Given the description of an element on the screen output the (x, y) to click on. 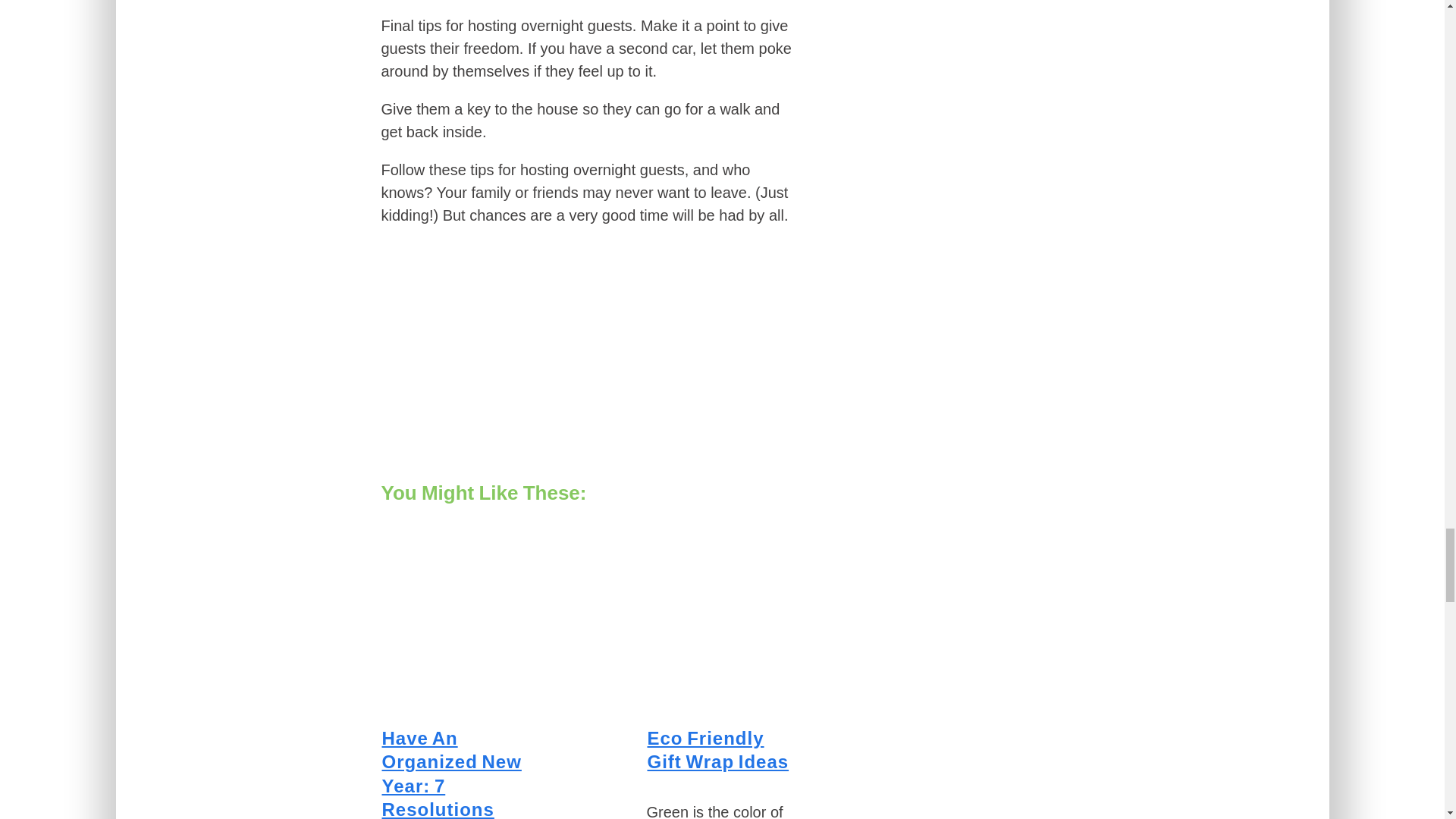
Have An Organized New Year: 7 Resolutions (451, 773)
Eco Friendly Gift Wrap Ideas (718, 750)
